Given the description of an element on the screen output the (x, y) to click on. 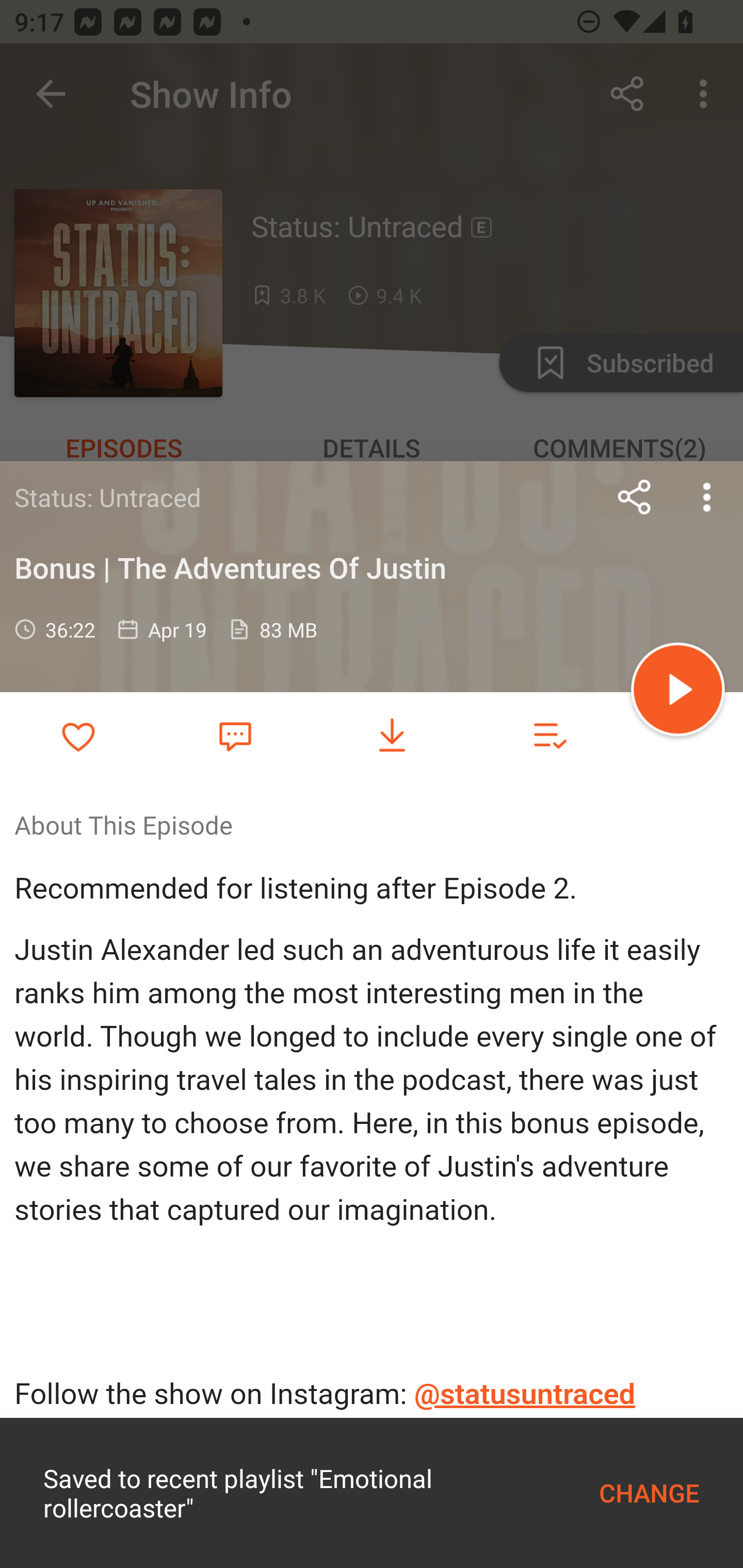
Share (634, 496)
more options (706, 496)
Play (677, 692)
Favorite (234, 735)
Add to Favorites (78, 735)
Download (391, 735)
Add to playlist (548, 735)
@statusuntraced (525, 1394)
CHANGE (648, 1492)
